Given the description of an element on the screen output the (x, y) to click on. 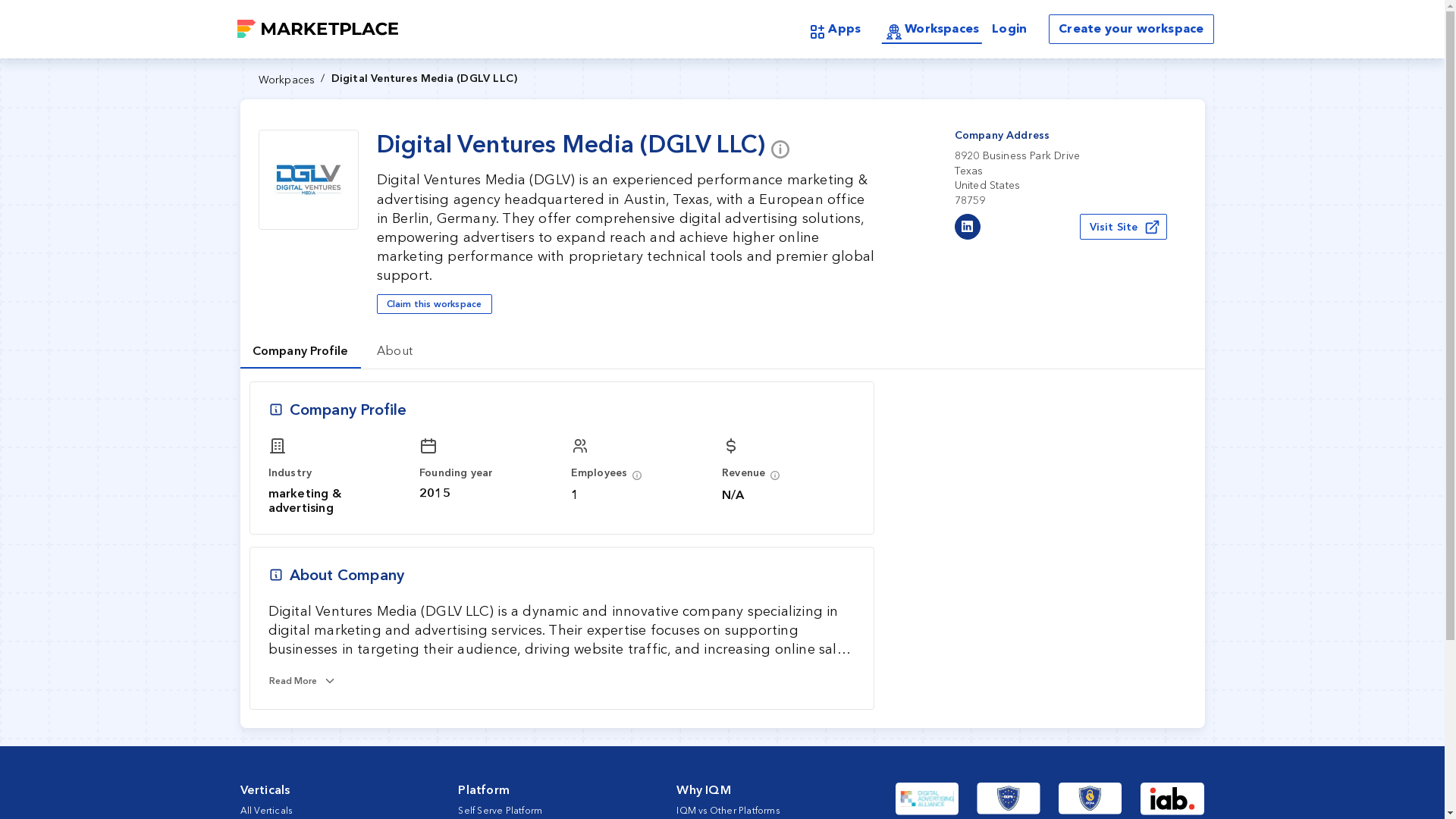
Workspaces (931, 30)
Login (1008, 28)
Read More (302, 680)
Company Profile (299, 350)
IQM vs Other Platforms (727, 809)
Self Serve Platform (499, 809)
All Verticals (266, 809)
Visit Site (722, 350)
Claim this workspace (1123, 226)
